Given the description of an element on the screen output the (x, y) to click on. 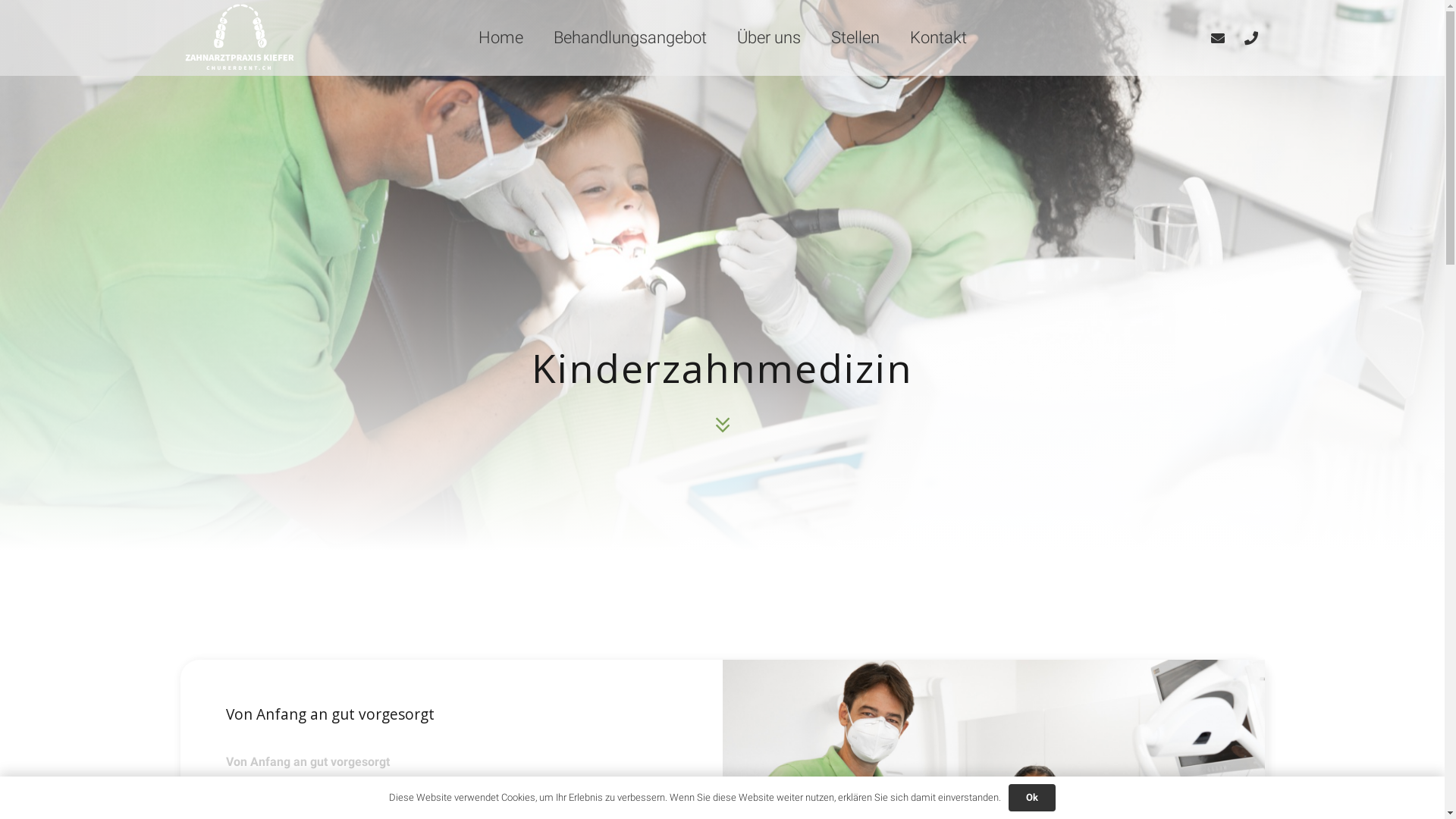
Home Element type: text (499, 37)
Ok Element type: text (1032, 797)
E-Mail Element type: hover (1217, 37)
Stellen Element type: text (854, 37)
Kontakt Element type: text (938, 37)
Behandlungsangebot Element type: text (629, 37)
Phone Element type: hover (1250, 37)
